Given the description of an element on the screen output the (x, y) to click on. 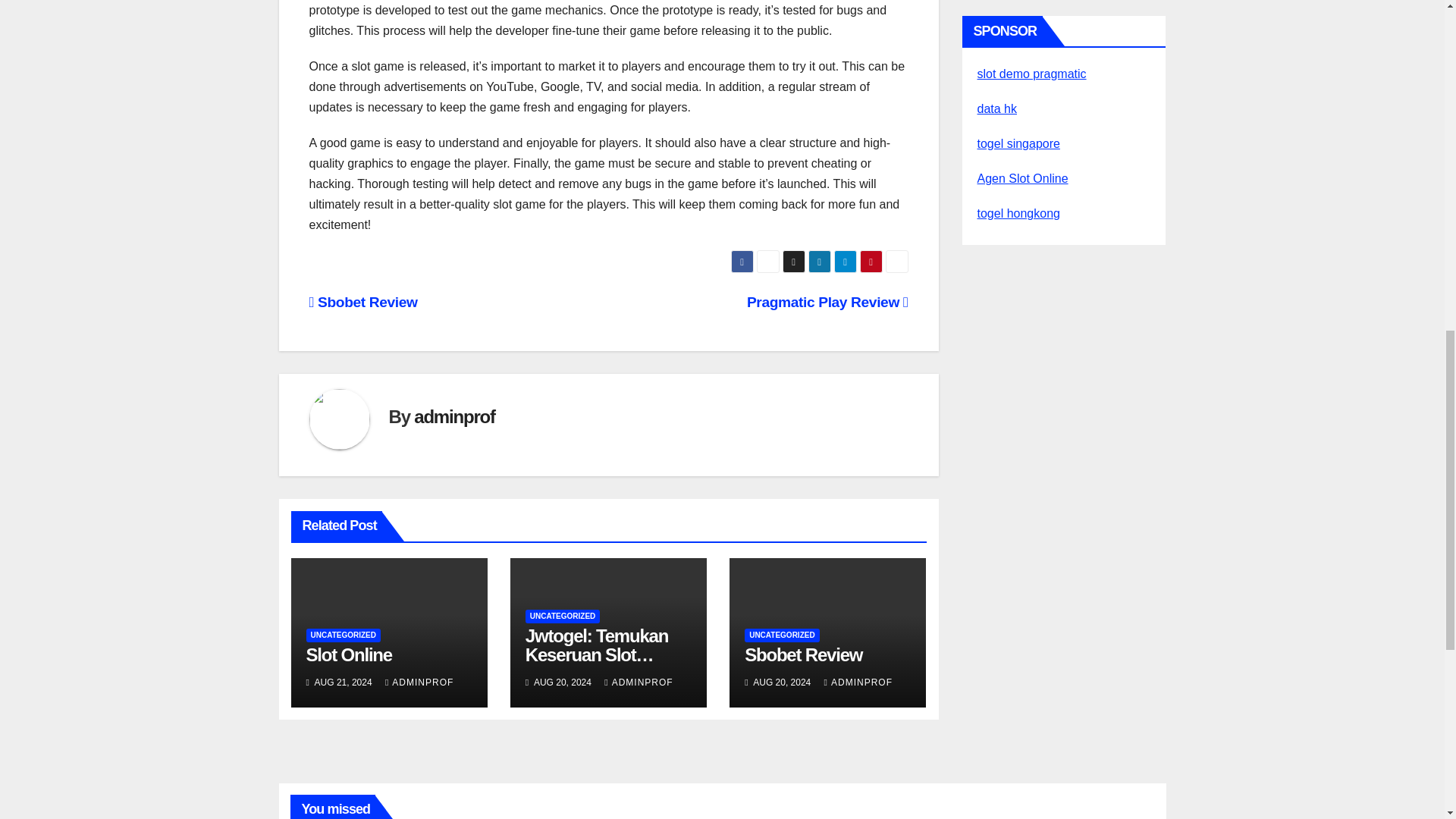
UNCATEGORIZED (342, 635)
adminprof (454, 416)
ADMINPROF (638, 682)
Pragmatic Play Review (827, 302)
ADMINPROF (418, 682)
Slot Online (348, 654)
Permalink to: Slot Online (348, 654)
UNCATEGORIZED (562, 616)
UNCATEGORIZED (781, 635)
Sbobet Review (362, 302)
